Given the description of an element on the screen output the (x, y) to click on. 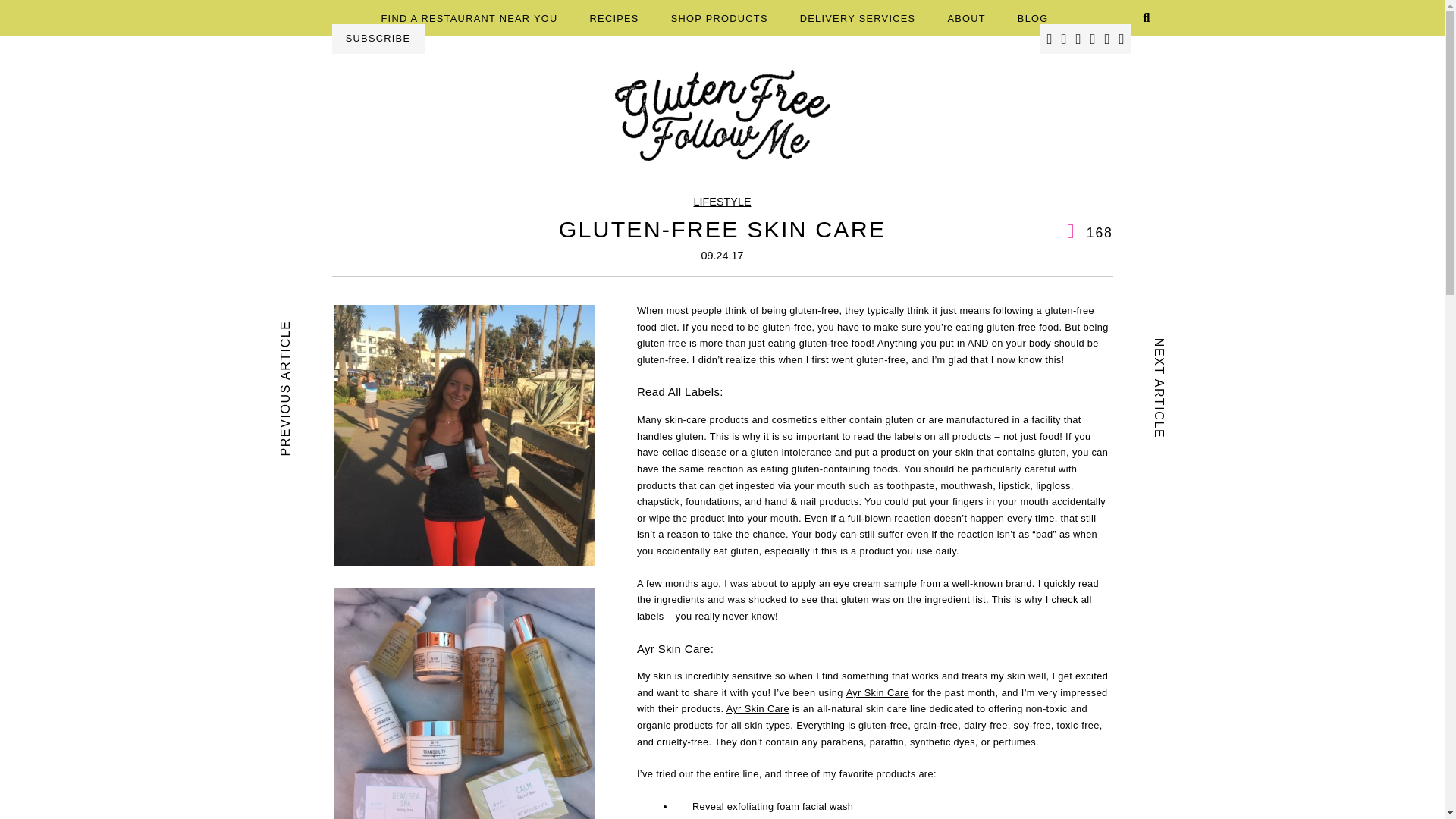
ABOUT (966, 18)
SHOP PRODUCTS (719, 18)
Like this (1090, 232)
DELIVERY SERVICES (857, 18)
RECIPES (614, 18)
FIND A RESTAURANT NEAR YOU (468, 18)
